Given the description of an element on the screen output the (x, y) to click on. 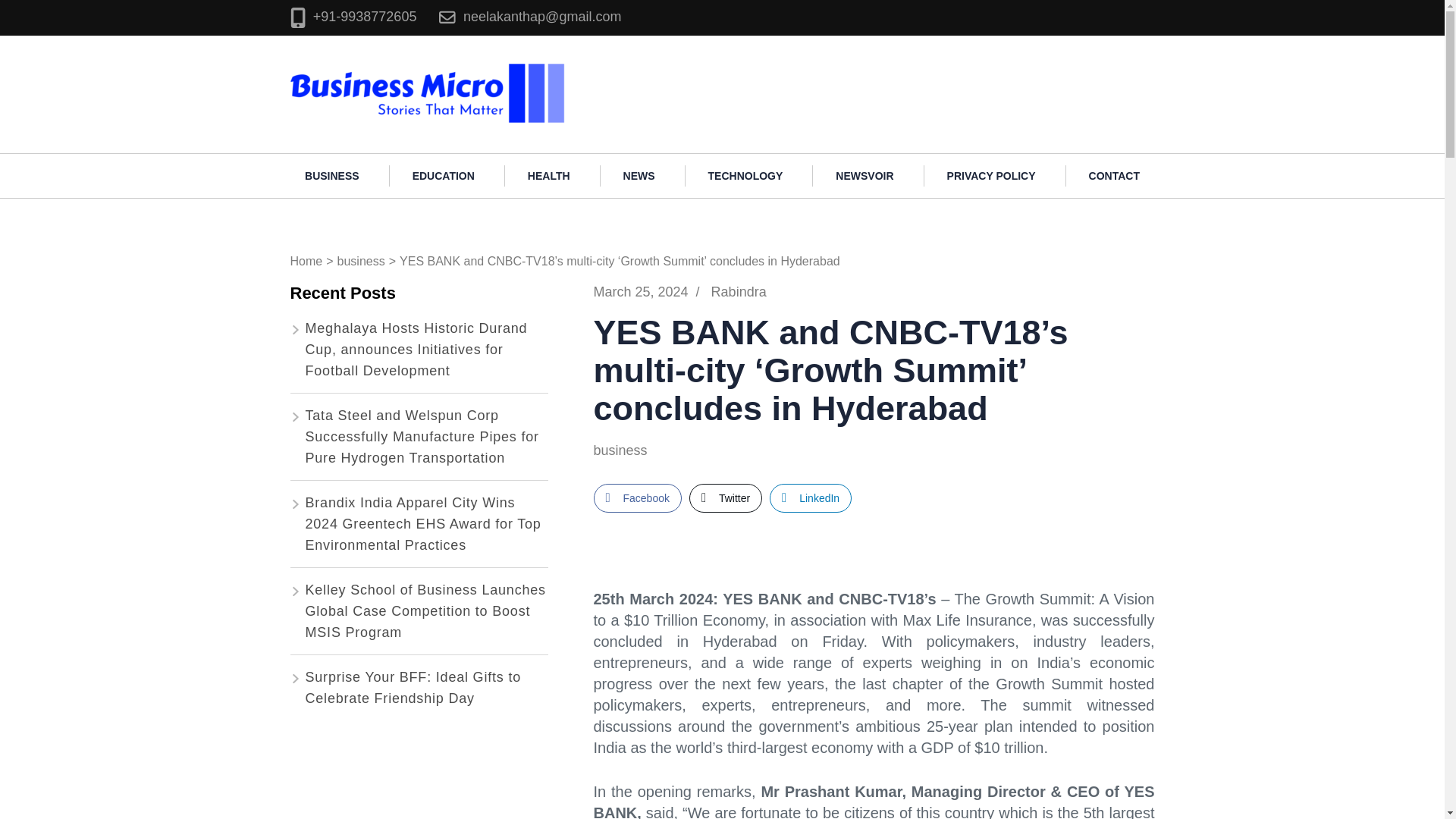
Rabindra (739, 291)
NEWSVOIR (863, 175)
CONTACT (1113, 175)
business (361, 260)
TECHNOLOGY (745, 175)
EDUCATION (444, 175)
PRIVACY POLICY (991, 175)
Business Micro (628, 68)
Home (305, 260)
March 25, 2024 (639, 291)
Twitter (724, 498)
HEALTH (548, 175)
BUSINESS (331, 175)
LinkedIn (810, 498)
Facebook (636, 498)
